Given the description of an element on the screen output the (x, y) to click on. 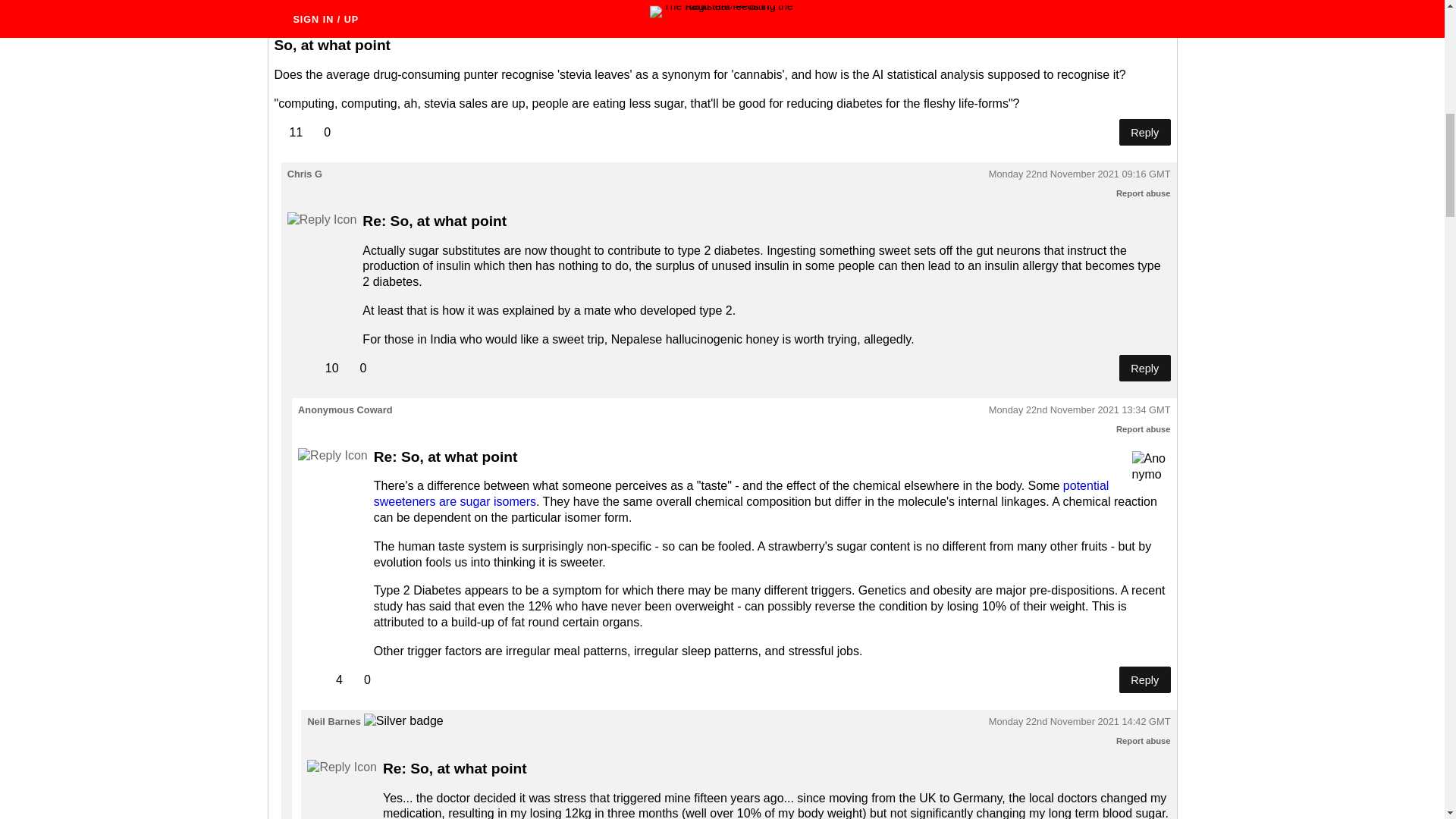
Report abuse (1143, 740)
Report abuse (1143, 17)
Report abuse (1143, 193)
Report abuse (1143, 429)
